Given the description of an element on the screen output the (x, y) to click on. 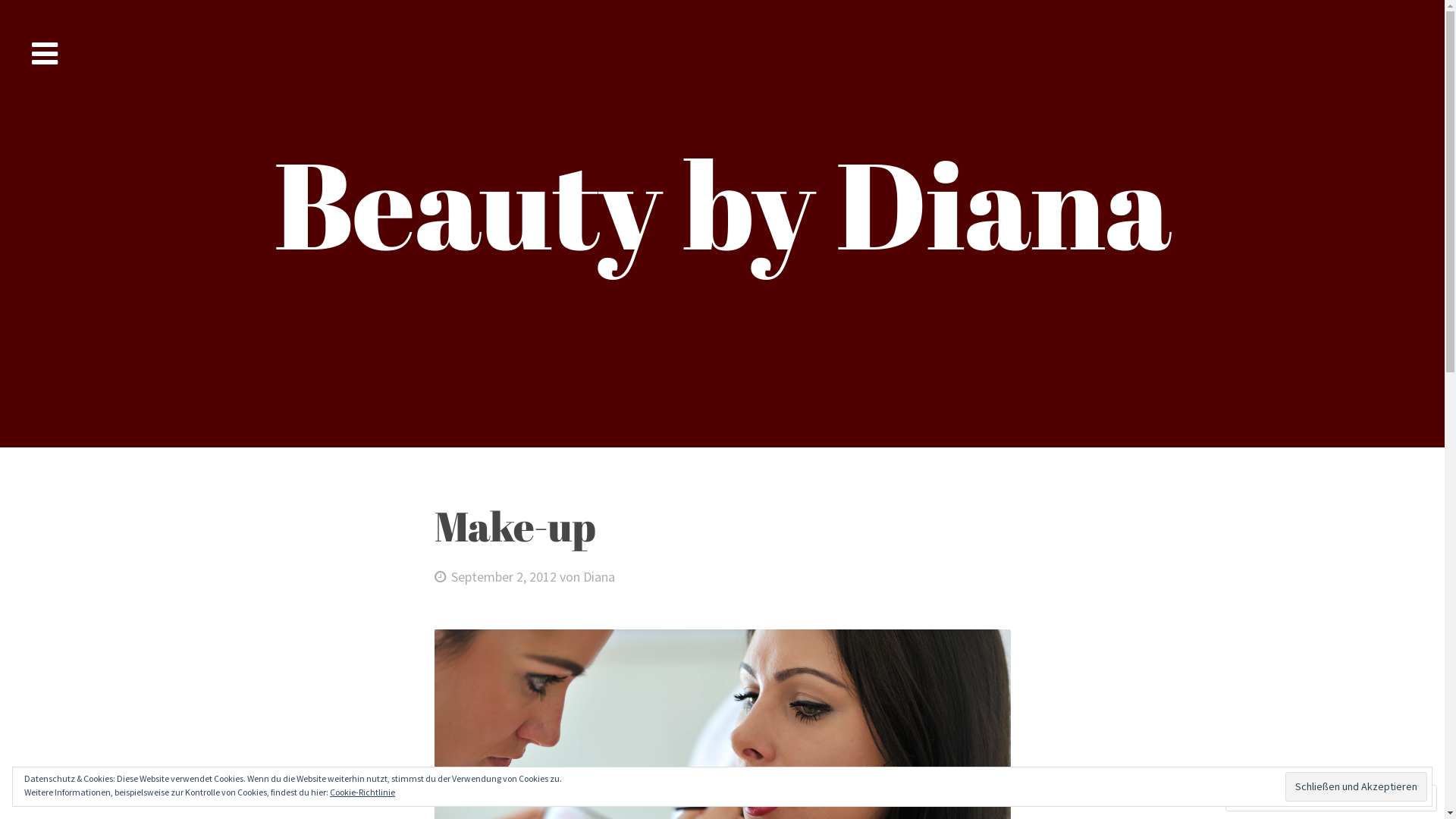
Beauty by Diana Element type: text (721, 203)
Diana Element type: text (599, 576)
Cookie-Richtlinie Element type: text (362, 791)
Abonnieren Element type: text (1361, 797)
September 2, 2012 Element type: text (494, 576)
Kommentar Element type: text (1270, 797)
